Given the description of an element on the screen output the (x, y) to click on. 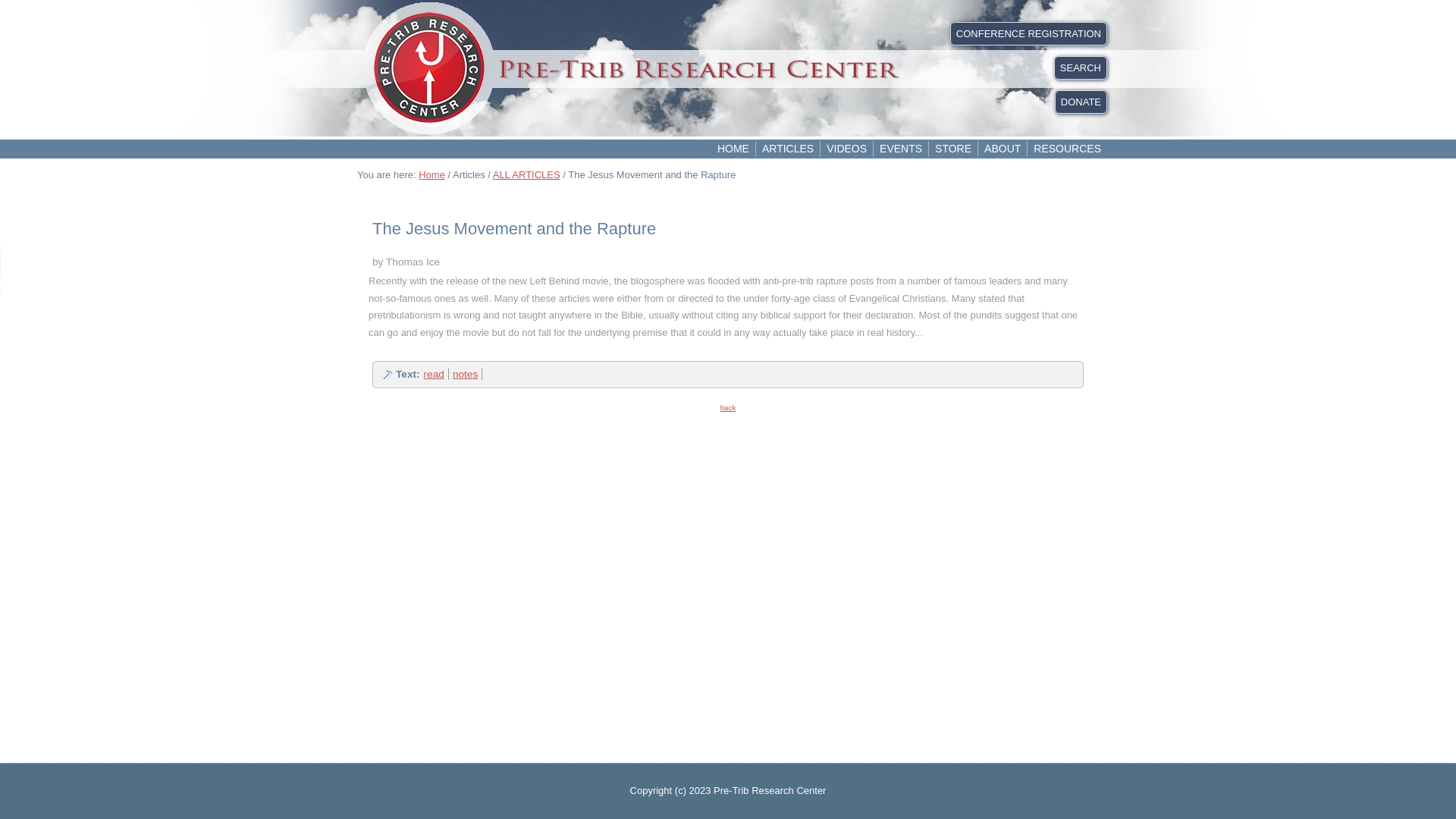
Conference Registration (1028, 33)
DONATE (1080, 101)
ARTICLES (787, 148)
Search (1080, 67)
HOME (733, 148)
CONFERENCE REGISTRATION (1028, 33)
Donate (1080, 101)
SEARCH (1080, 67)
